Given the description of an element on the screen output the (x, y) to click on. 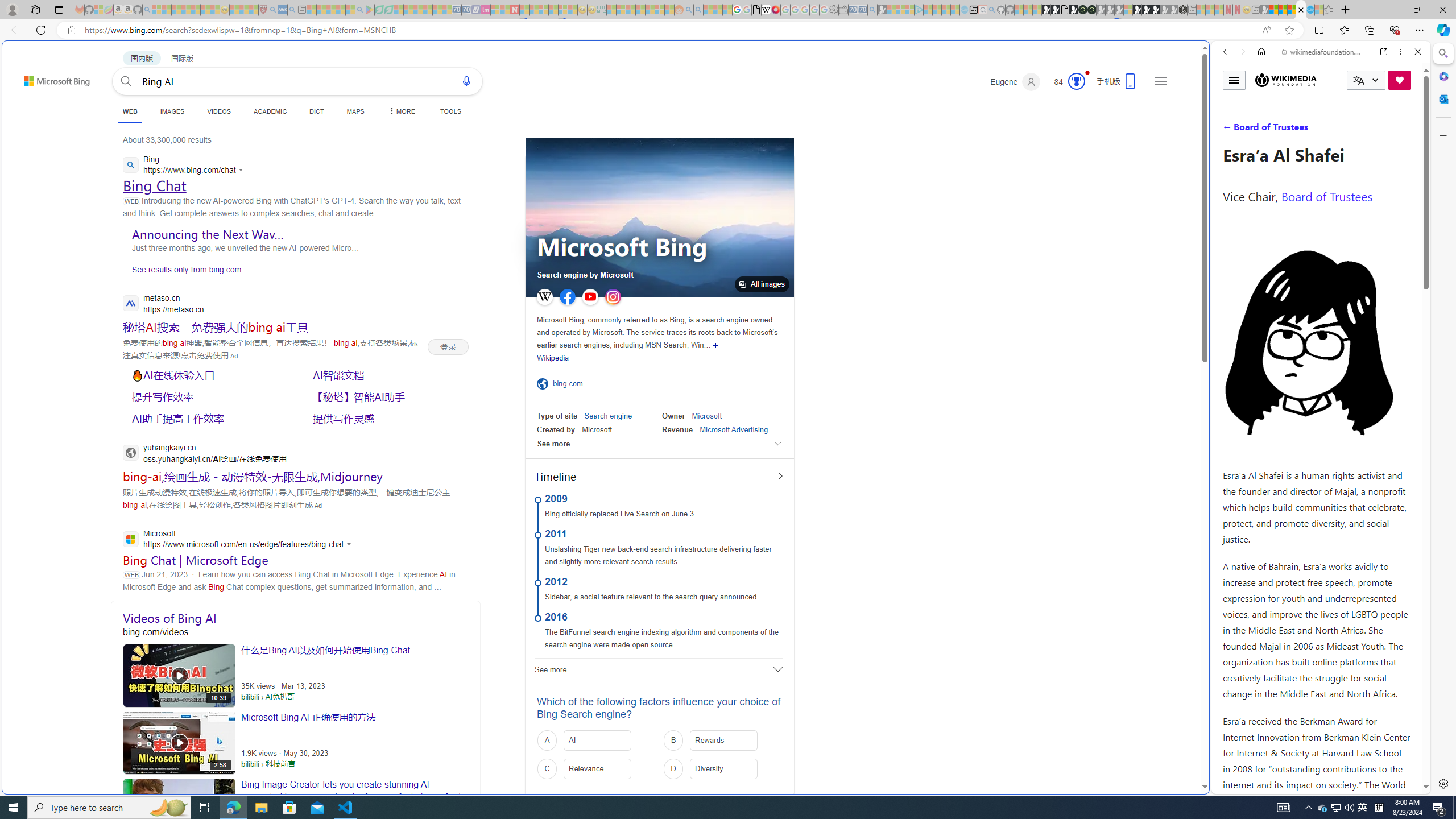
Favorites - Sleeping (1328, 9)
Pets - MSN - Sleeping (340, 9)
Wikipedia (553, 357)
github - Search - Sleeping (991, 9)
AutomationID: serp_medal_svg (1076, 81)
DICT (316, 111)
